Given the description of an element on the screen output the (x, y) to click on. 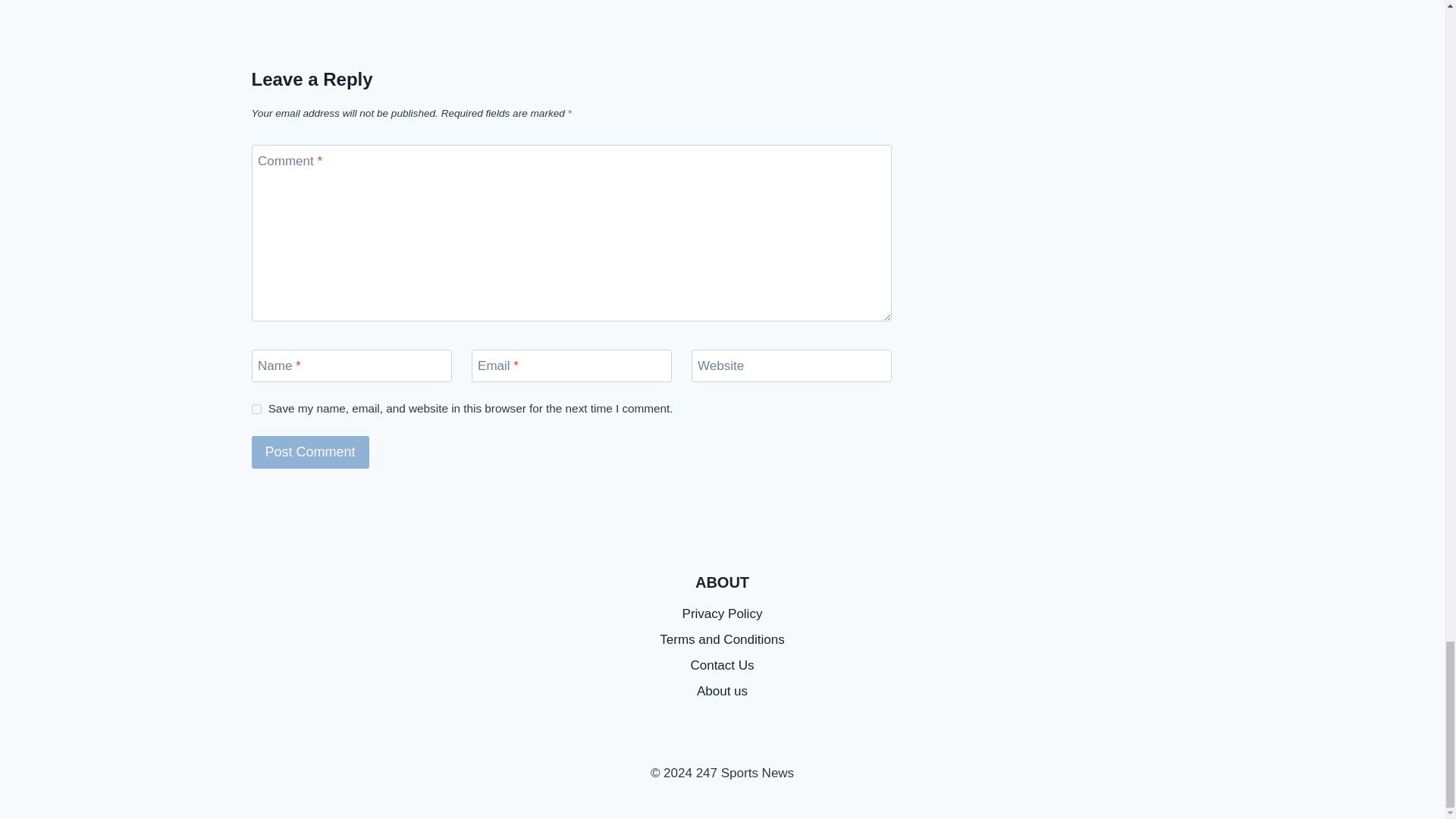
yes (256, 409)
Post Comment (310, 451)
